Given the description of an element on the screen output the (x, y) to click on. 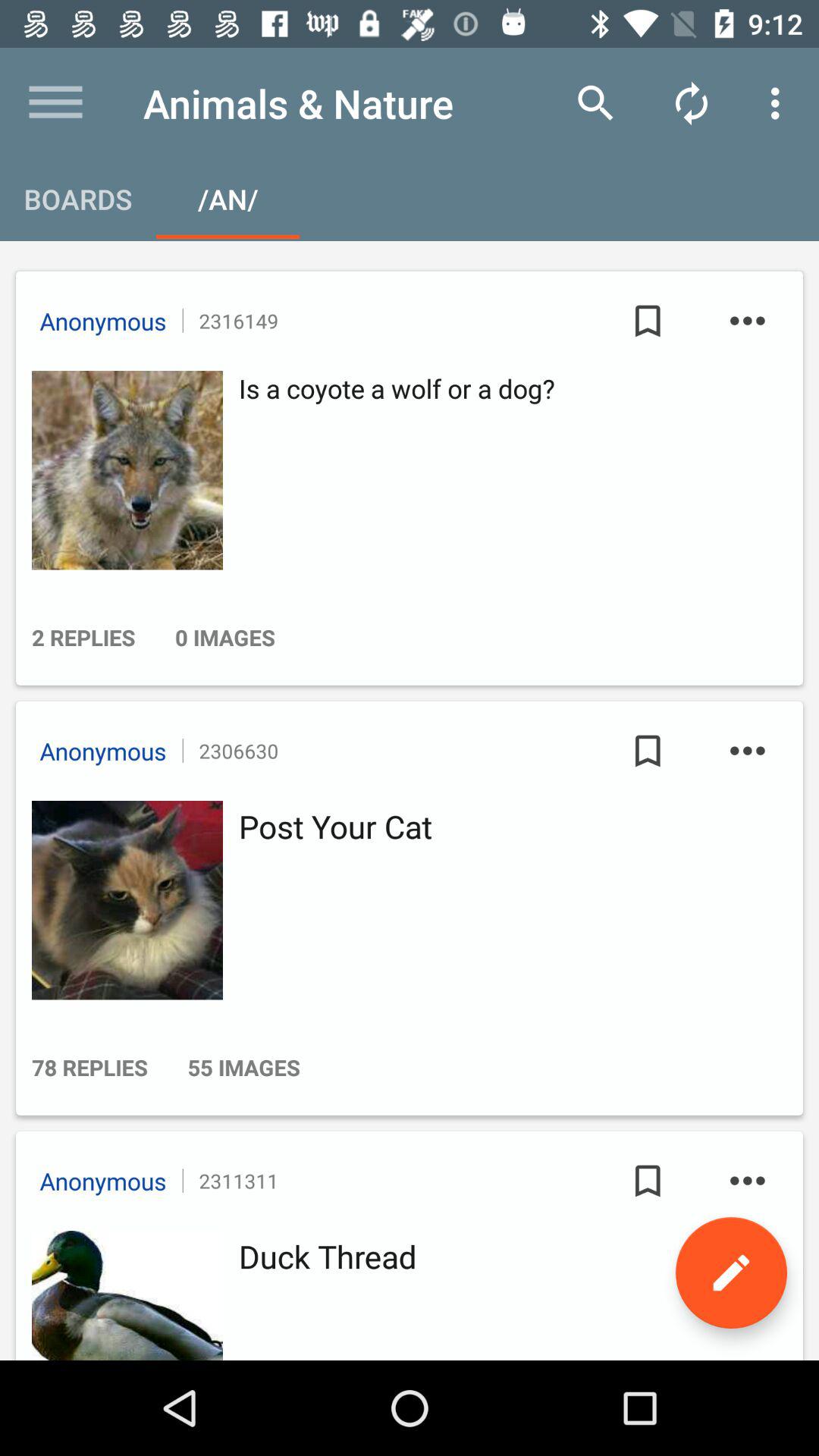
click on top right corner of second option (747, 750)
